Given the description of an element on the screen output the (x, y) to click on. 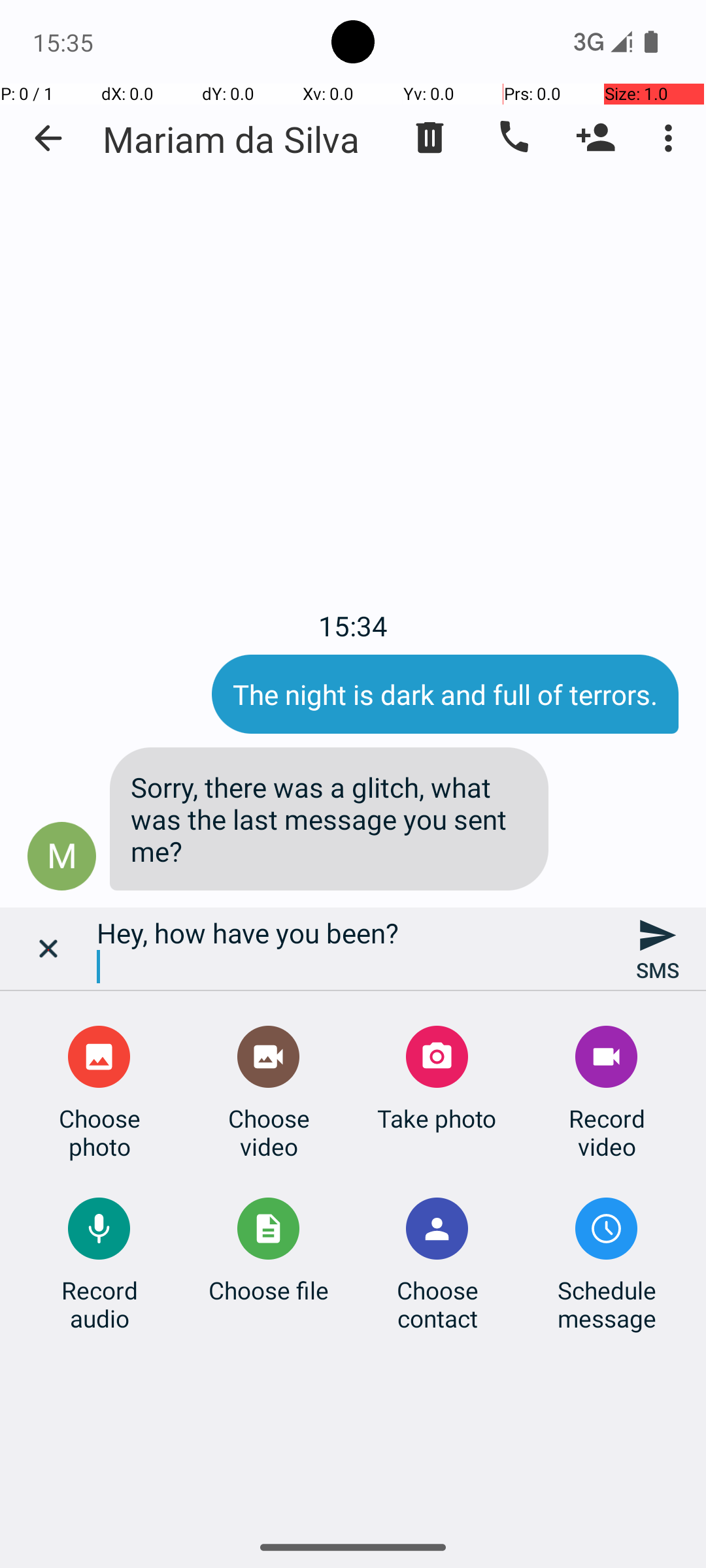
Mariam da Silva Element type: android.widget.TextView (230, 138)
Hey, how have you been?
 Element type: android.widget.EditText (352, 948)
The night is dark and full of terrors. Element type: android.widget.TextView (444, 693)
Sorry, there was a glitch, what was the last message you sent me? Element type: android.widget.TextView (328, 818)
Choose photo Element type: android.widget.TextView (98, 1131)
Choose video Element type: android.widget.TextView (268, 1131)
Take photo Element type: android.widget.TextView (436, 1117)
Record video Element type: android.widget.TextView (606, 1131)
Record audio Element type: android.widget.TextView (98, 1303)
Choose file Element type: android.widget.TextView (268, 1289)
Choose contact Element type: android.widget.TextView (436, 1303)
Schedule message Element type: android.widget.TextView (606, 1303)
